Given the description of an element on the screen output the (x, y) to click on. 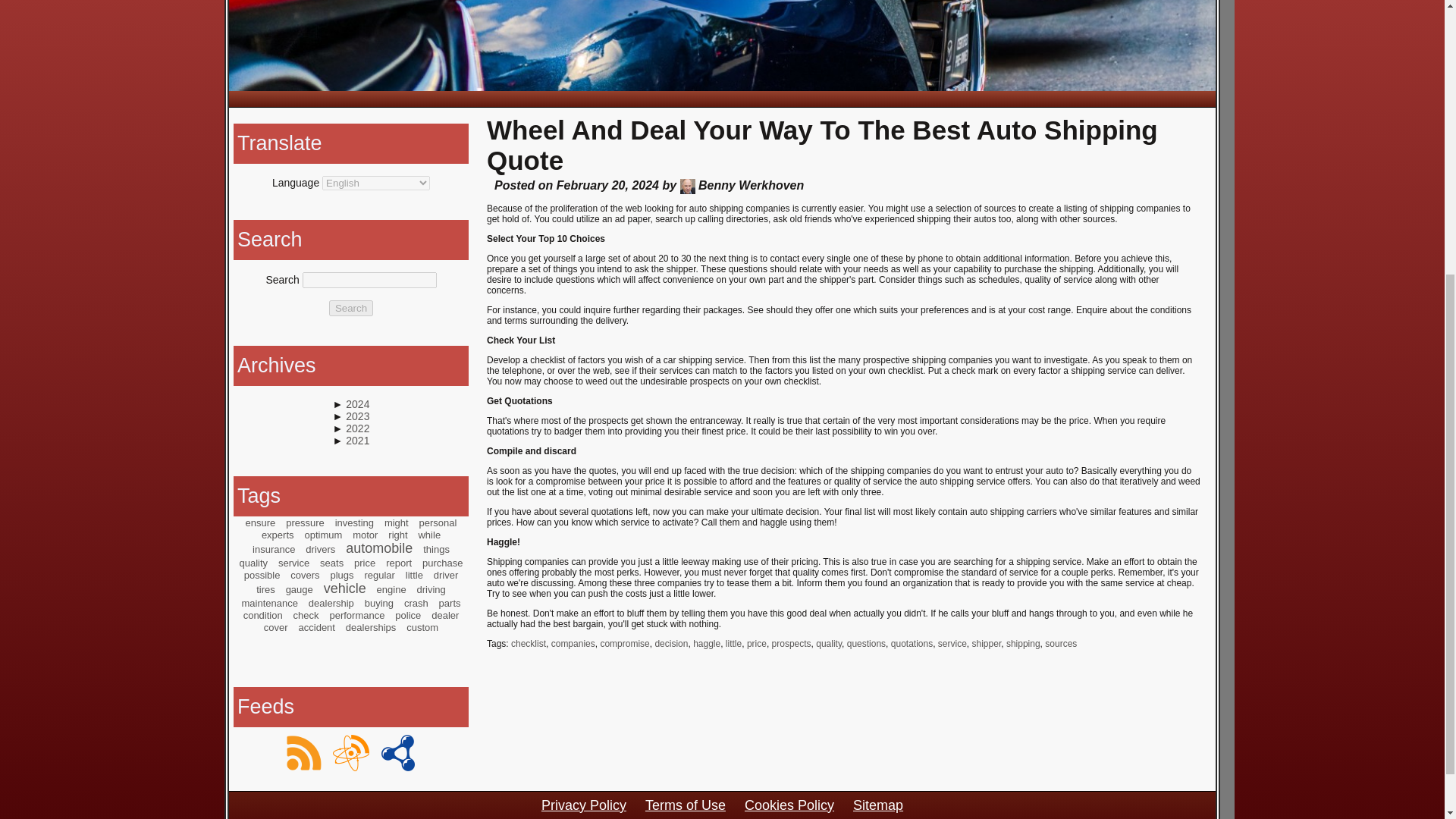
2023 (357, 416)
little (733, 643)
companies (573, 643)
compromise (624, 643)
2024 (357, 404)
decision (670, 643)
Rss Feed (303, 752)
quality (828, 643)
Search (350, 308)
questions (866, 643)
RDF Feed (398, 752)
prospects (790, 643)
haggle (706, 643)
Benny Werkhoven (687, 186)
price (756, 643)
